Given the description of an element on the screen output the (x, y) to click on. 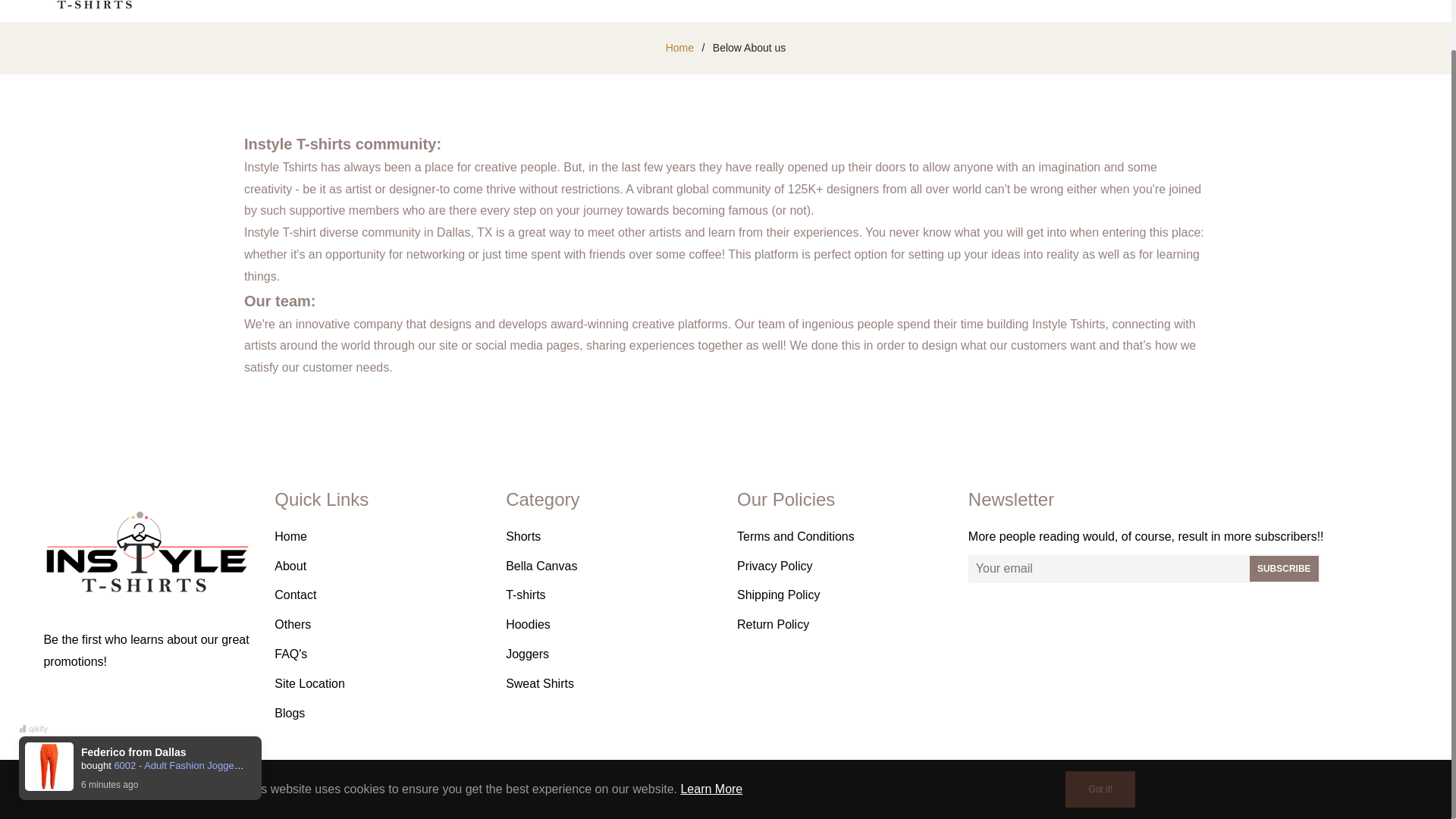
Sweat Shirts (539, 683)
Site Location (310, 683)
T-SHIRTS (542, 5)
SWEAT SHIRTS (649, 5)
Contact (295, 594)
Blogs (289, 712)
HOODIE (362, 5)
Others (293, 624)
JOGGERS (450, 5)
SHORTS (751, 5)
Home (291, 535)
Home (679, 47)
About (290, 565)
CUSTOM CLOTHING (868, 5)
Joggers (526, 653)
